Given the description of an element on the screen output the (x, y) to click on. 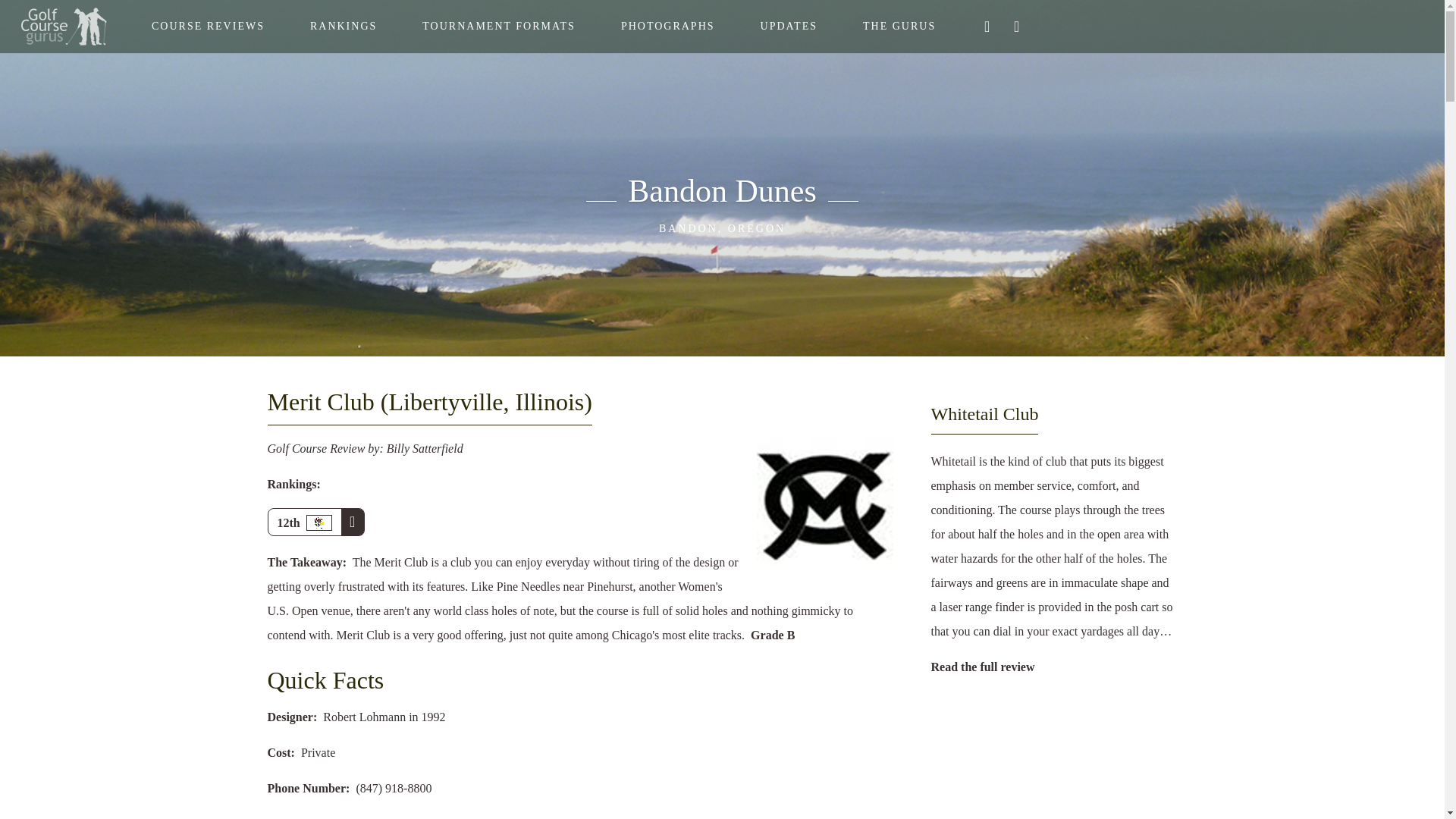
12th     (315, 521)
COURSE REVIEWS (207, 26)
BANDON, OREGON (721, 228)
Read the full review (983, 666)
UPDATES (789, 26)
THE GURUS (899, 26)
Official Website (399, 818)
12th in Illinois (315, 521)
Bandon Dunes (721, 190)
TOURNAMENT FORMATS (498, 26)
